Given the description of an element on the screen output the (x, y) to click on. 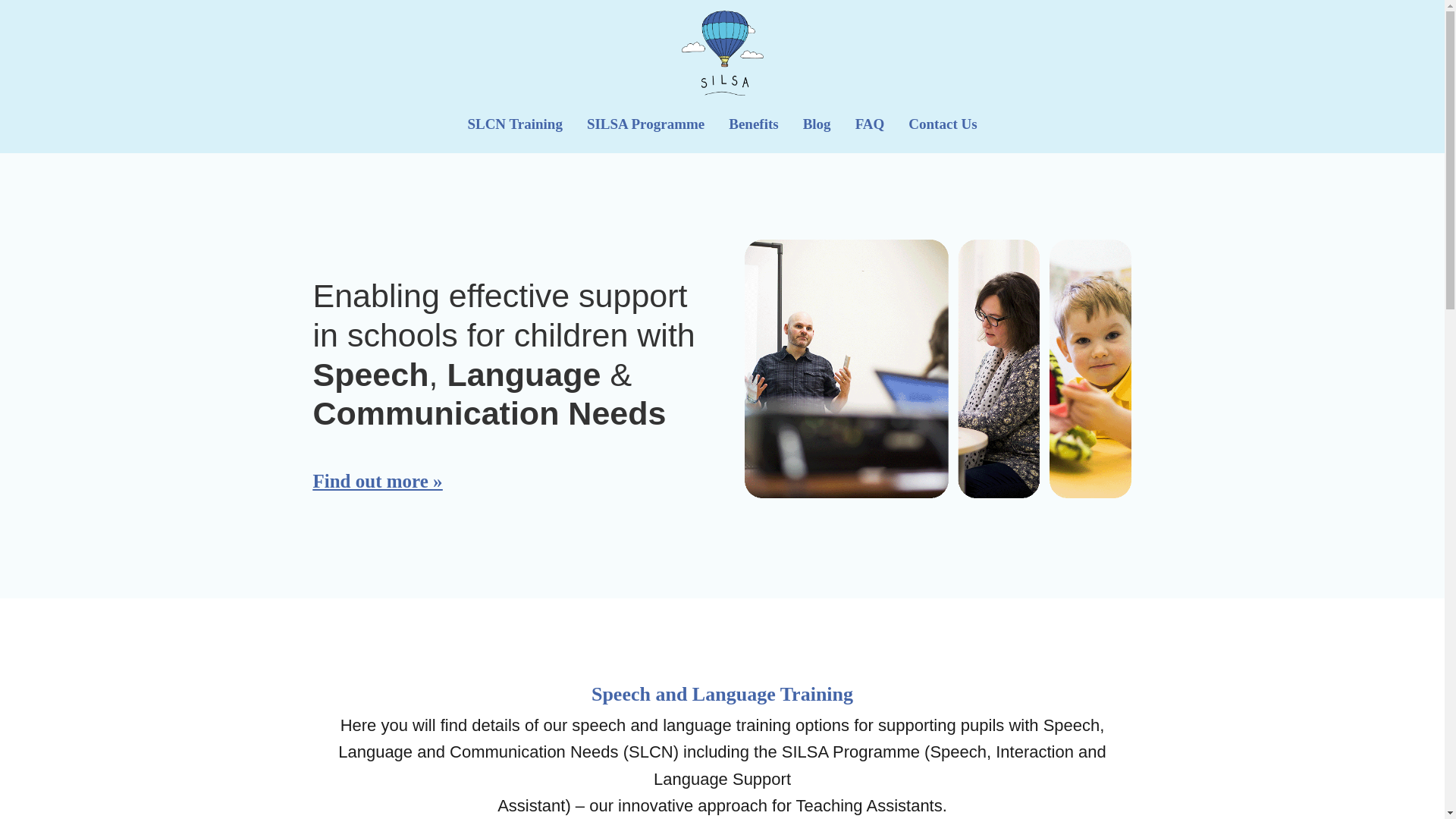
Speech and Language Training  (937, 368)
Contact Us (942, 124)
SILSA Programme (645, 124)
SLCN Training (514, 124)
